Given the description of an element on the screen output the (x, y) to click on. 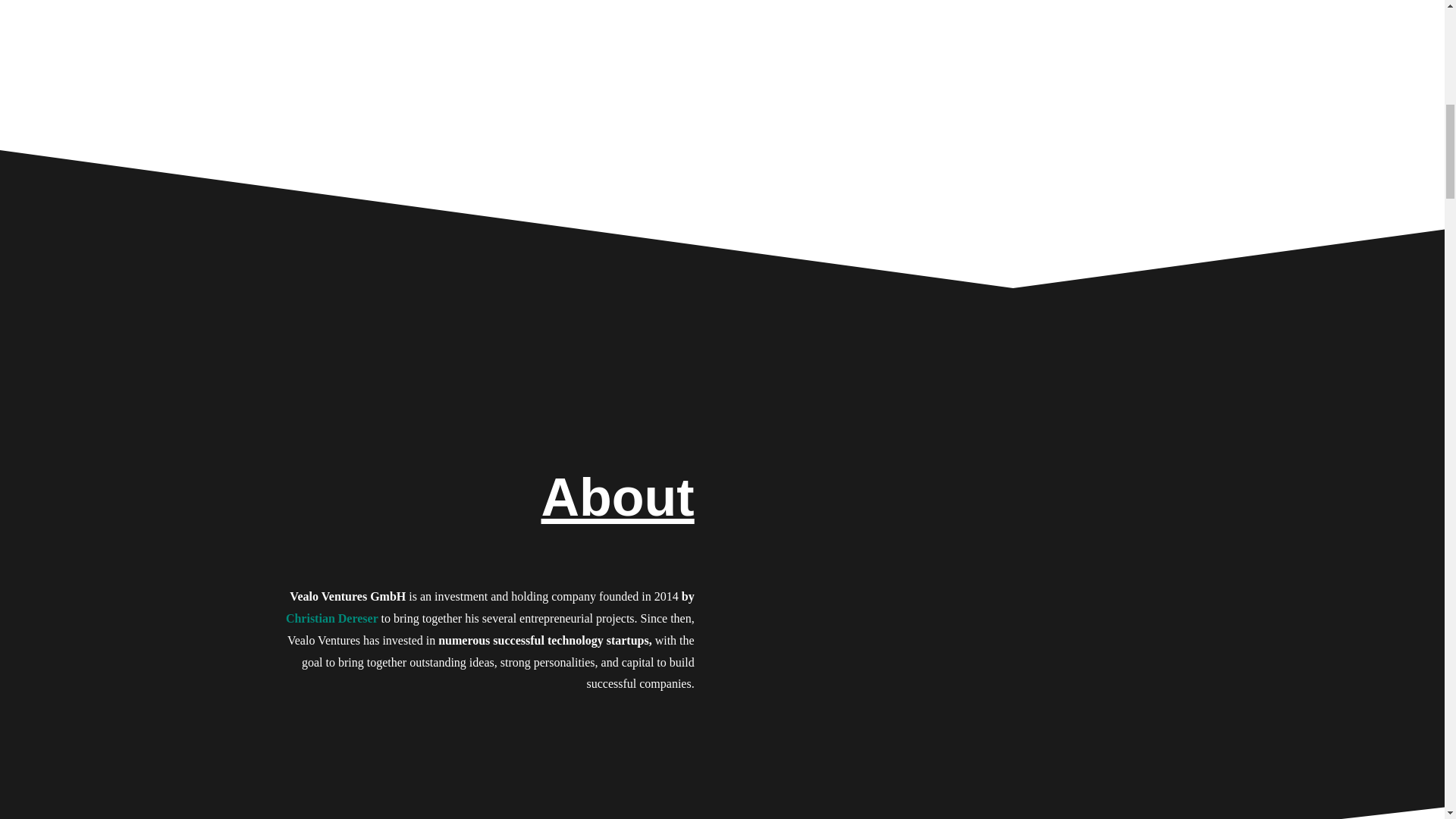
Christian Dereser (331, 617)
Christian Dereser (331, 617)
